Given the description of an element on the screen output the (x, y) to click on. 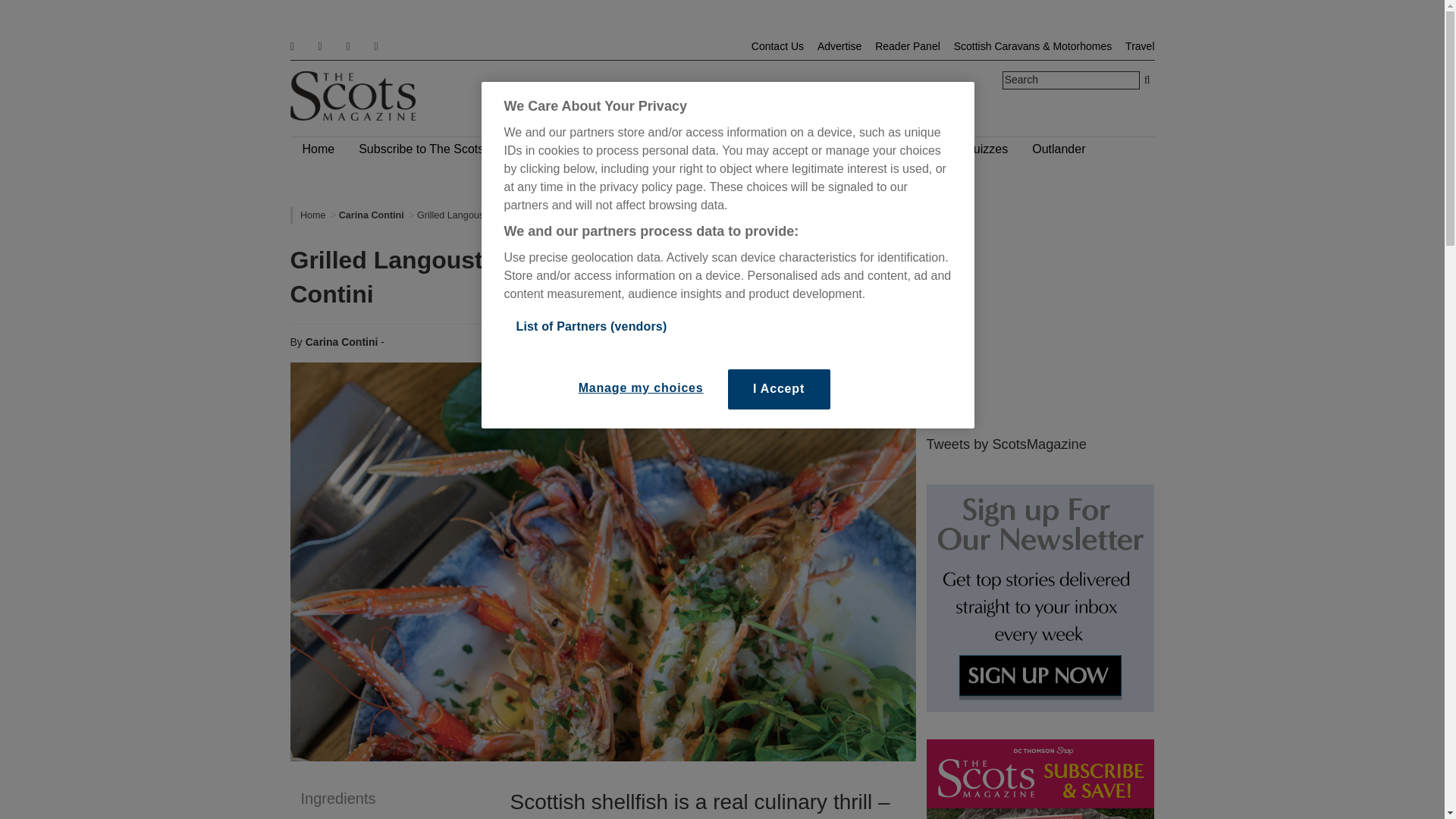
Outlander (1058, 149)
The Scots Magazine (351, 95)
Wildlife (684, 149)
Travel (1139, 46)
Home (317, 149)
Home (312, 214)
Subscribe to The Scots Magazine (449, 149)
Advertise (838, 46)
Subscribe to The Scots Magazine (449, 149)
Contact Us (777, 46)
Famous Scots (603, 149)
Reader Panel (907, 46)
Discover Scotland (846, 149)
Recipes (751, 149)
Carina Contini (371, 214)
